Given the description of an element on the screen output the (x, y) to click on. 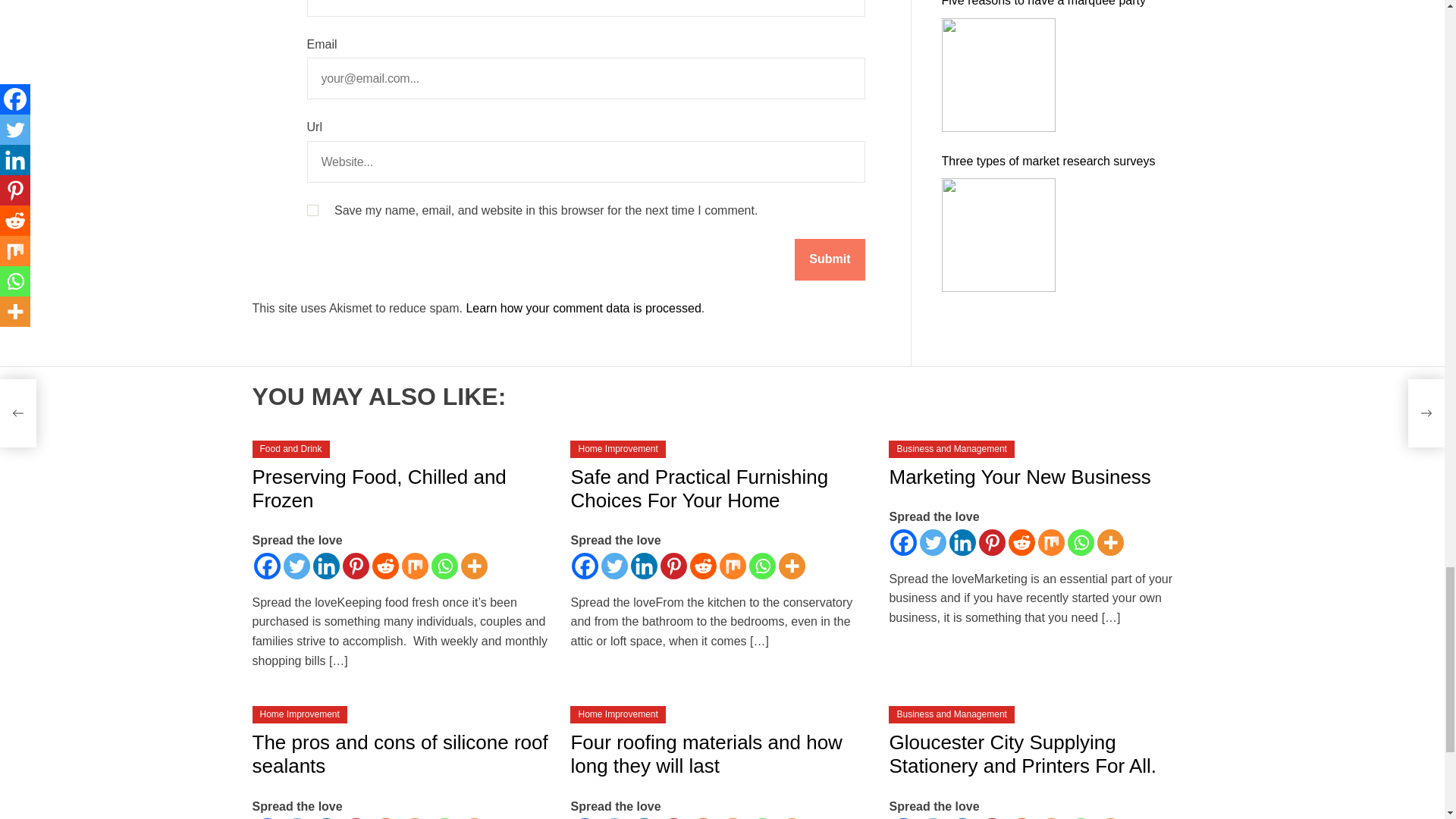
Submit (829, 259)
yes (311, 210)
